Given the description of an element on the screen output the (x, y) to click on. 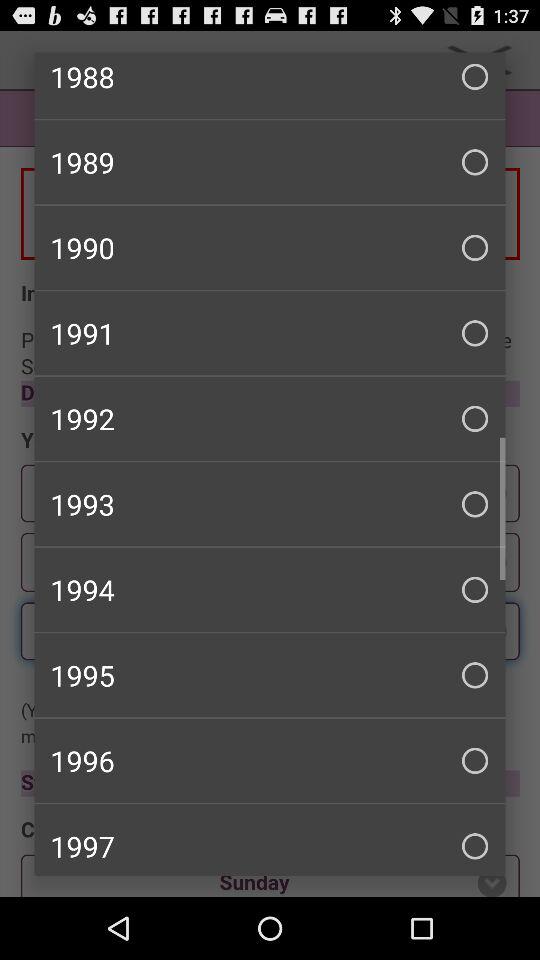
jump to 1992 icon (269, 418)
